Given the description of an element on the screen output the (x, y) to click on. 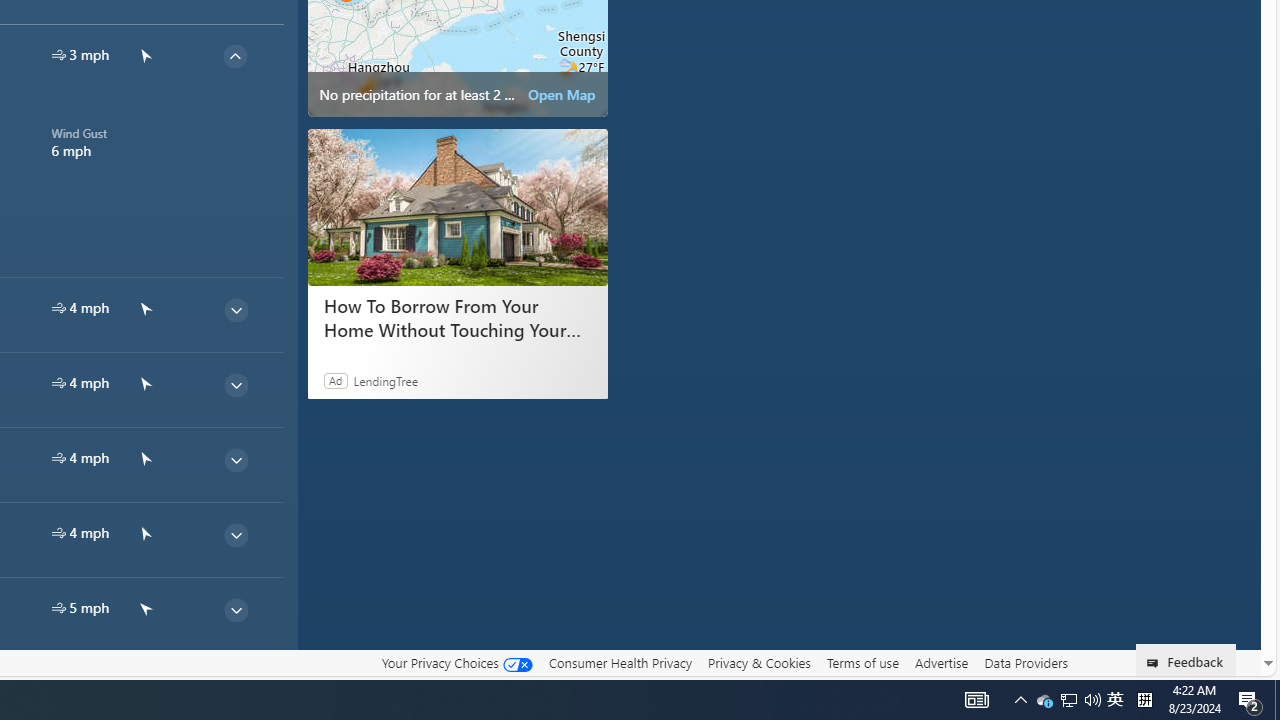
Data Providers (1025, 663)
Class: feedback_link_icon-DS-EntryPoint1-1 (1156, 663)
Your Privacy Choices (456, 662)
Terms of use (861, 662)
Your Privacy Choices (456, 663)
Terms of use (861, 663)
common/thinArrow (235, 684)
Open Map (561, 94)
